Given the description of an element on the screen output the (x, y) to click on. 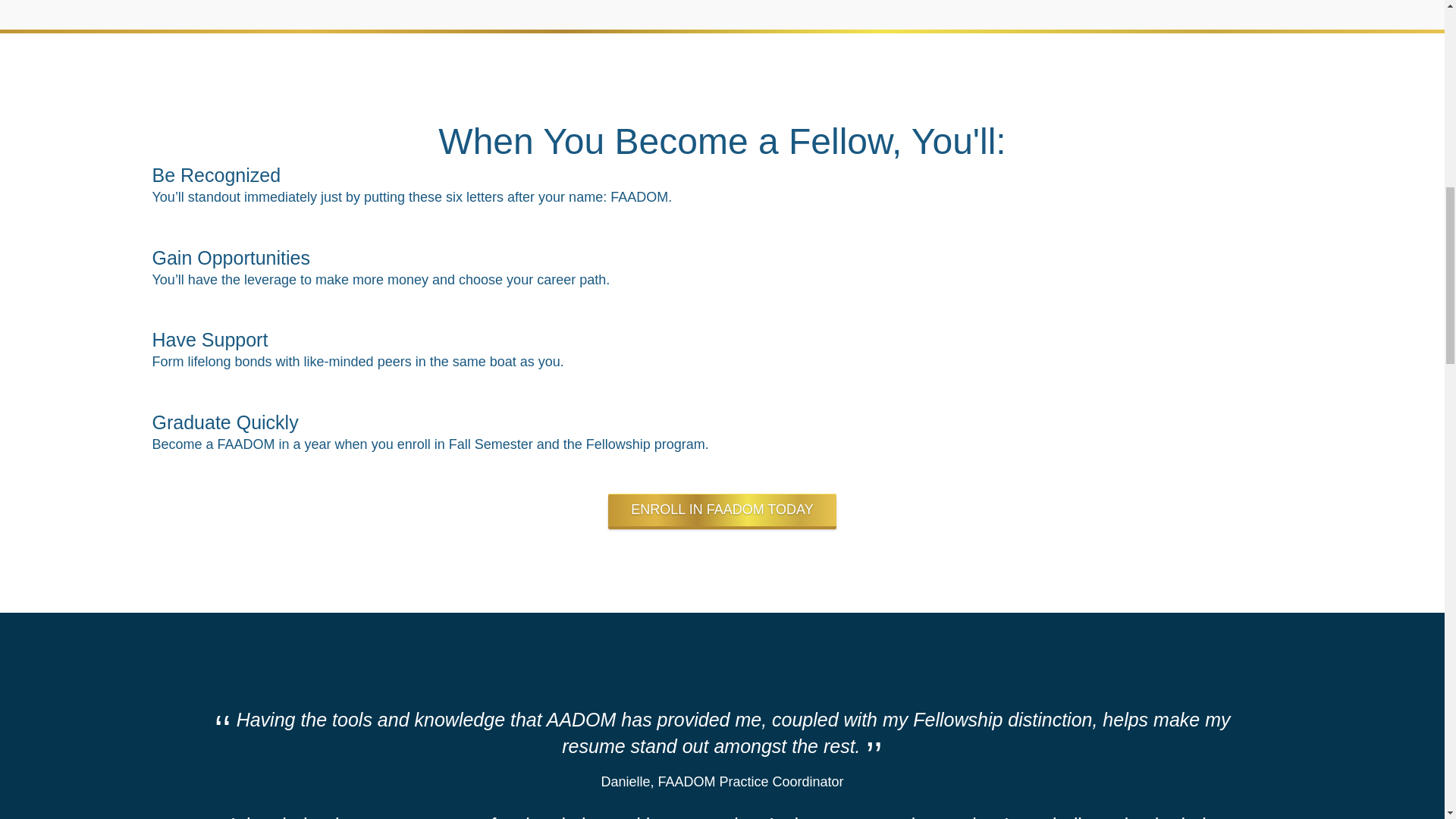
ENROLL IN FAADOM TODAY (721, 329)
